Given the description of an element on the screen output the (x, y) to click on. 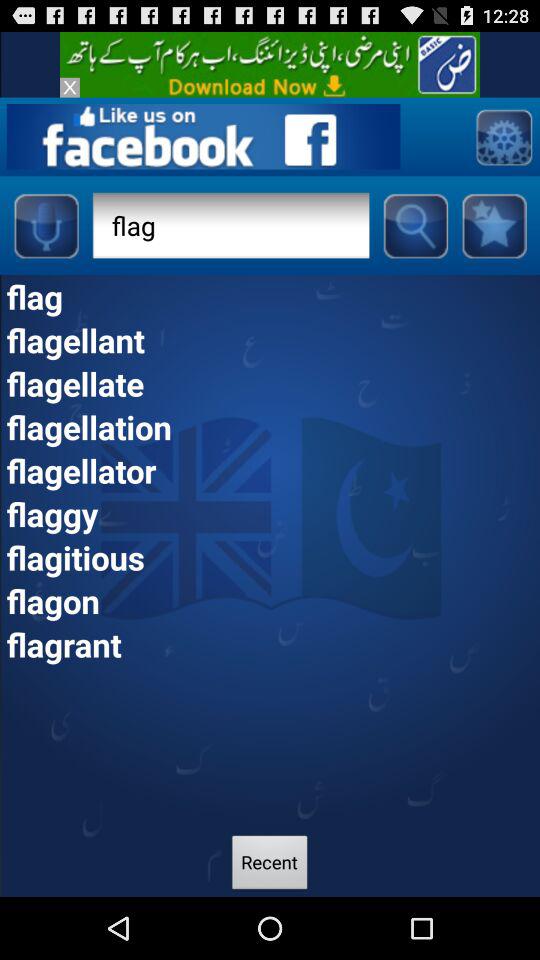
open facebook (203, 136)
